Given the description of an element on the screen output the (x, y) to click on. 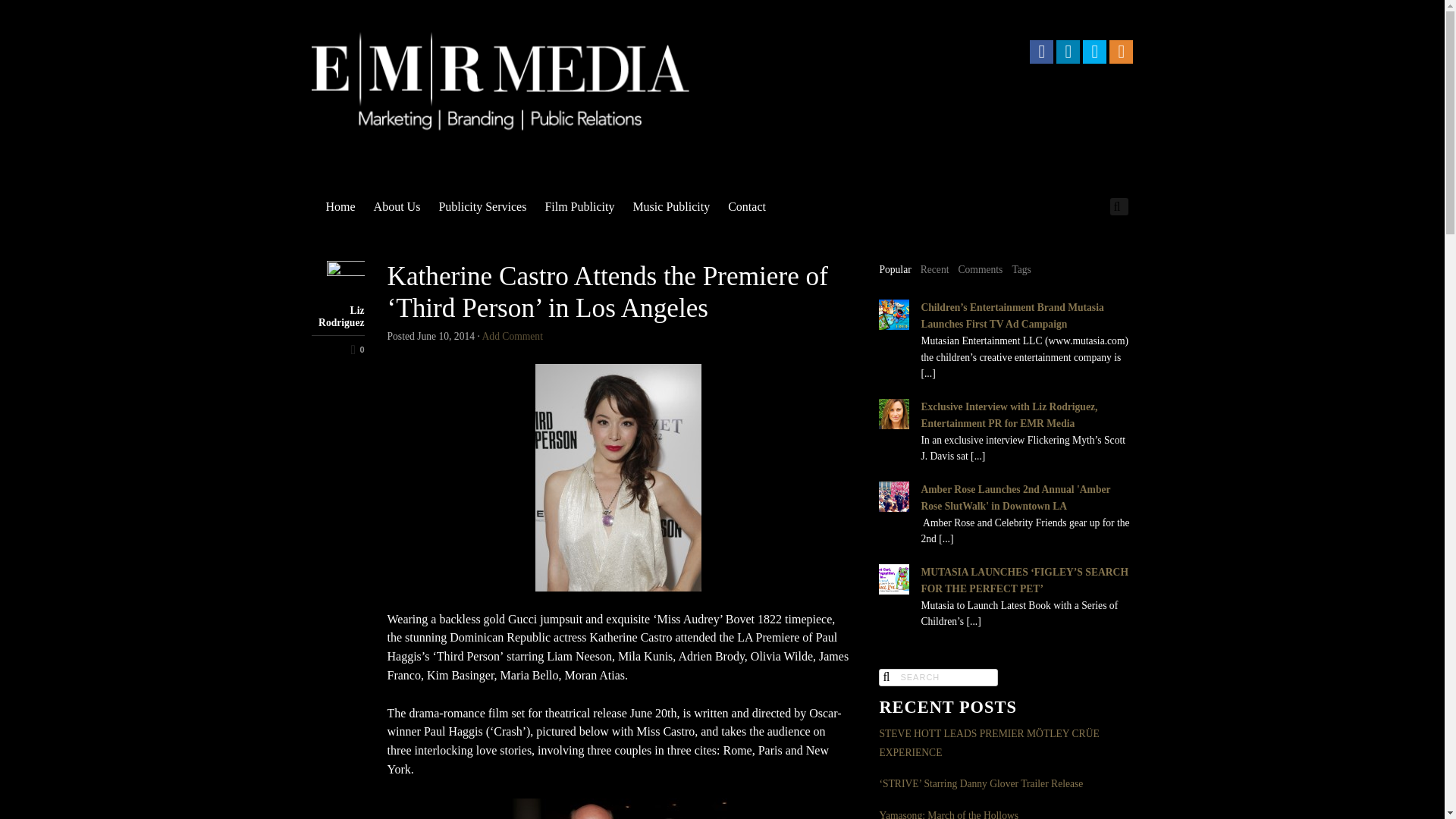
Comments (980, 270)
Add Comment (512, 336)
Popular (895, 270)
0 (337, 349)
Give Karma (337, 349)
Recent (934, 270)
Tags (1020, 270)
Contact (746, 206)
Home (341, 206)
Music Publicity (671, 206)
